Given the description of an element on the screen output the (x, y) to click on. 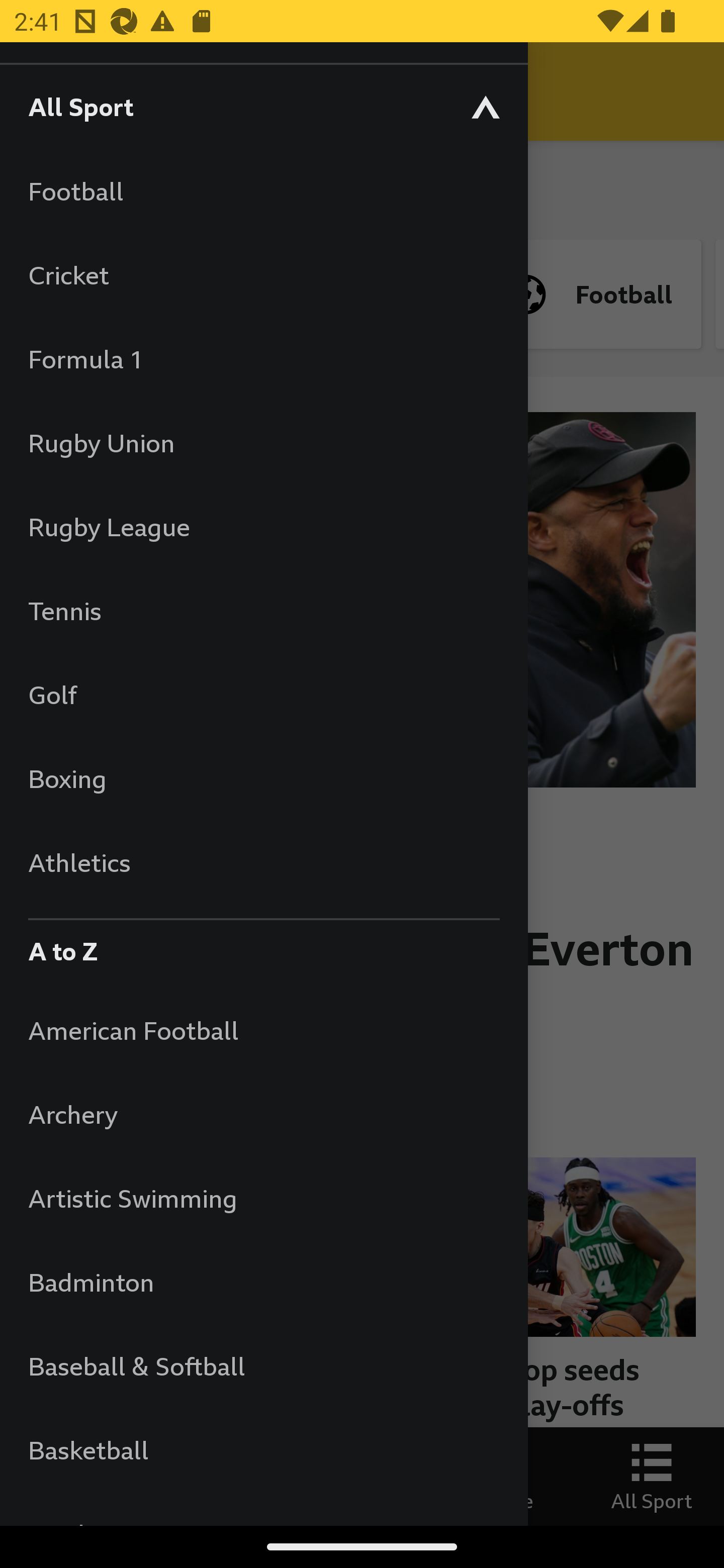
All Sport (263, 105)
Football (263, 190)
Cricket (263, 274)
Formula 1 (263, 358)
Rugby Union (263, 441)
Rugby League (263, 526)
Tennis (263, 609)
Golf (263, 694)
Boxing (263, 778)
Athletics (263, 862)
A to Z (263, 945)
American Football (263, 1029)
Archery (263, 1114)
Artistic Swimming (263, 1197)
Badminton (263, 1282)
Baseball & Softball (263, 1365)
Basketball (263, 1450)
